Given the description of an element on the screen output the (x, y) to click on. 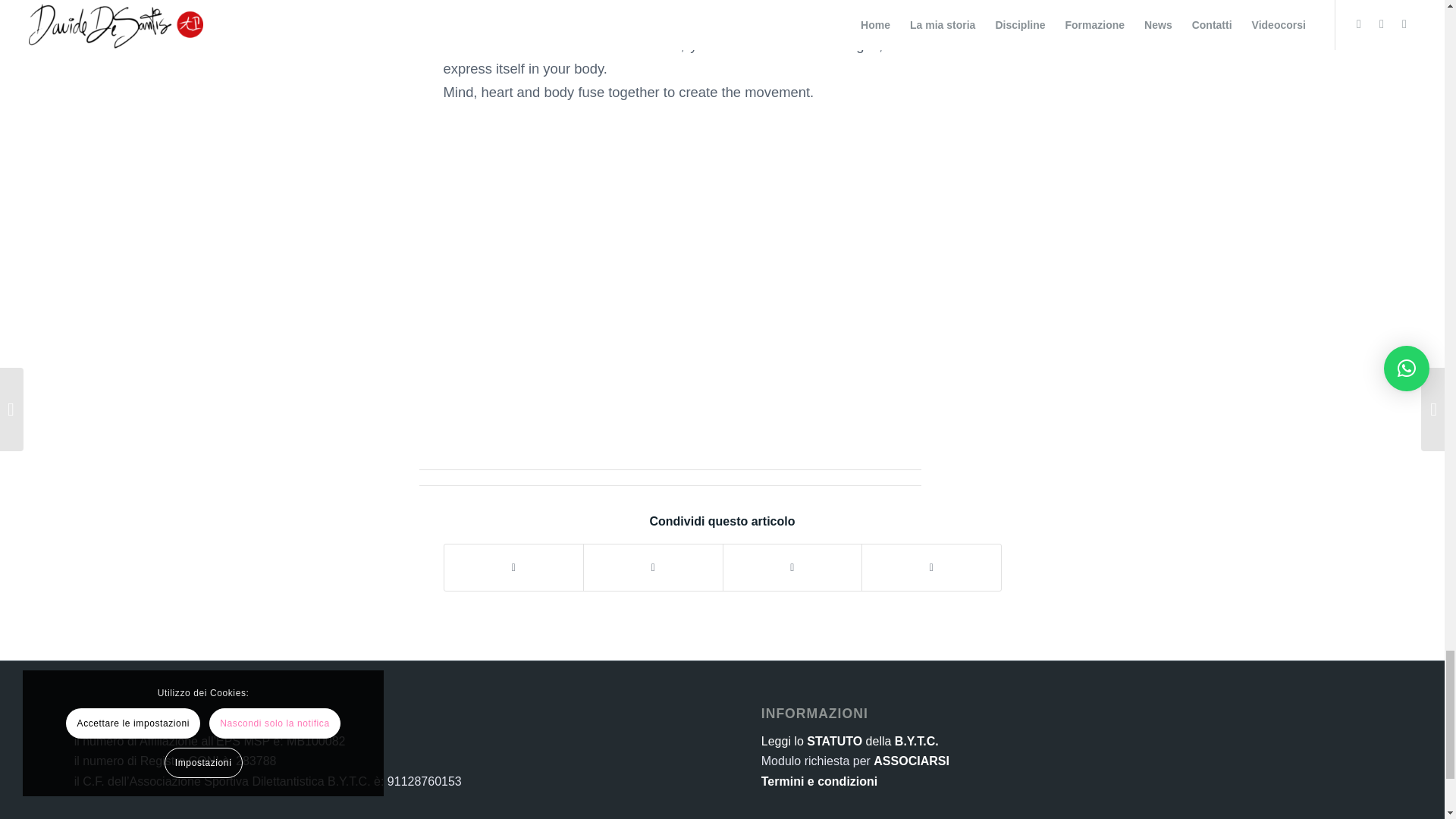
ASSOCIARSI (911, 760)
 STATUTO  (834, 740)
Termini e condizioni (819, 780)
Leggi lo (782, 740)
della (878, 740)
 B.Y.T.C. (914, 740)
